Given the description of an element on the screen output the (x, y) to click on. 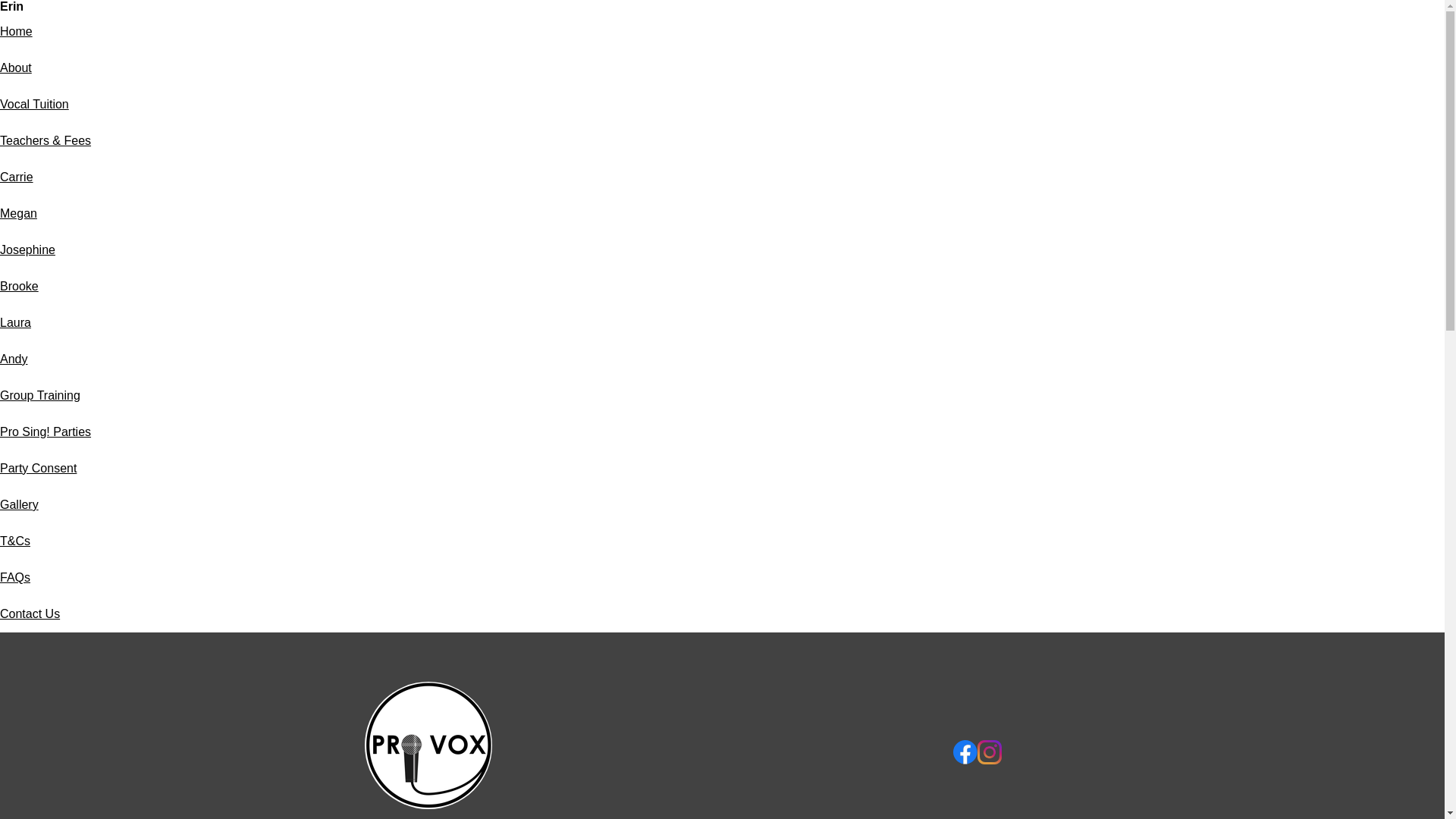
Josephine (27, 249)
Contact Us (29, 613)
Home (16, 31)
Vocal Tuition (34, 103)
Group Training (40, 395)
Party Consent (38, 468)
Megan (18, 213)
FAQs (15, 576)
Carrie (16, 176)
Andy (13, 358)
